Given the description of an element on the screen output the (x, y) to click on. 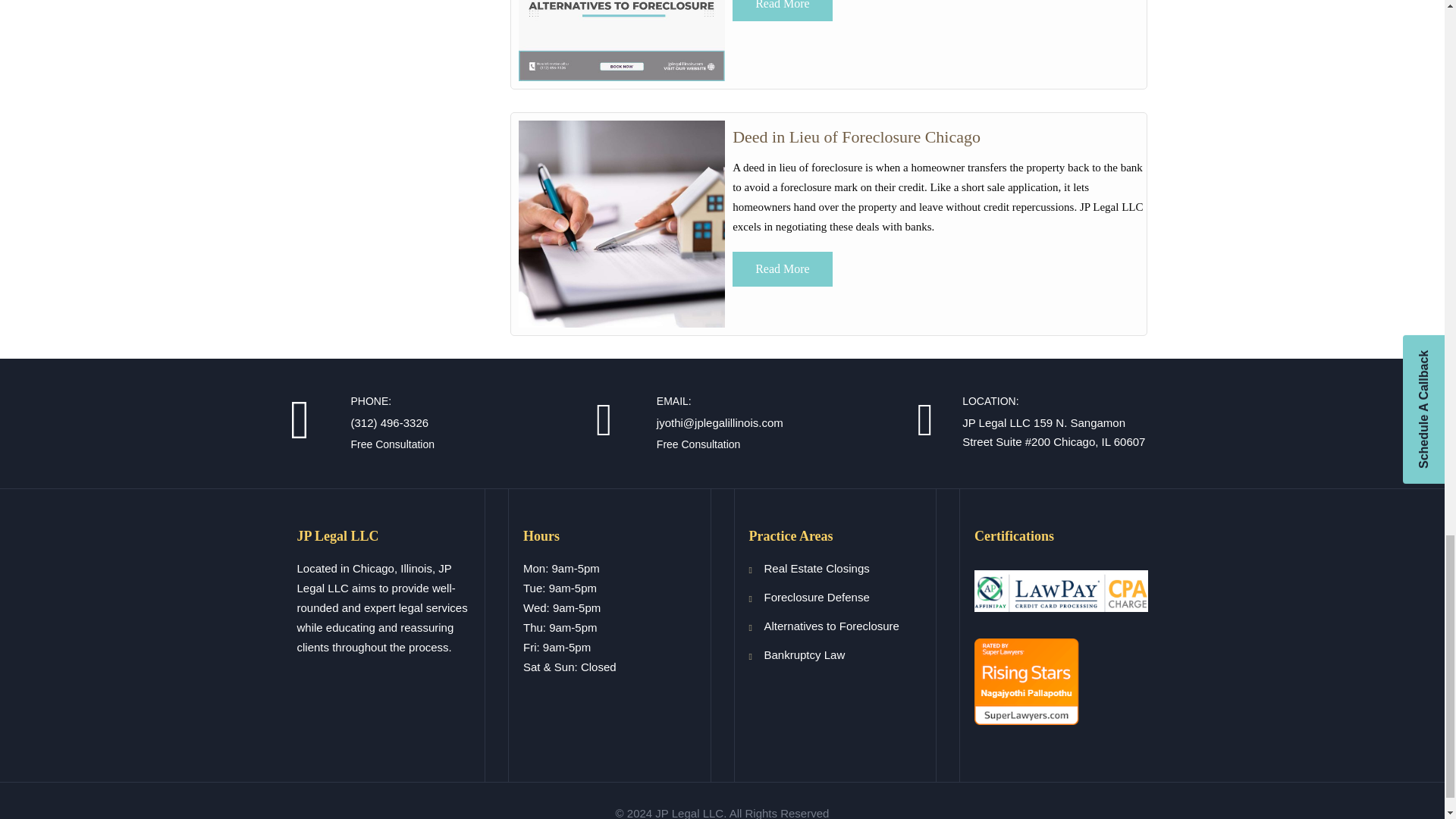
Foreclosure Defense (816, 596)
Alternatives to Foreclosure (831, 625)
service-jp-legal-illinois-5 (621, 40)
Read More (782, 268)
Real Estate Closings (816, 567)
Deed in Lieu of Foreclosure Chicago (855, 136)
Read More (782, 10)
Bankruptcy Law (804, 654)
Alternatives to Foreclosure Chicago IL (855, 136)
Alternatives to Foreclosure Chicago IL (782, 10)
